Given the description of an element on the screen output the (x, y) to click on. 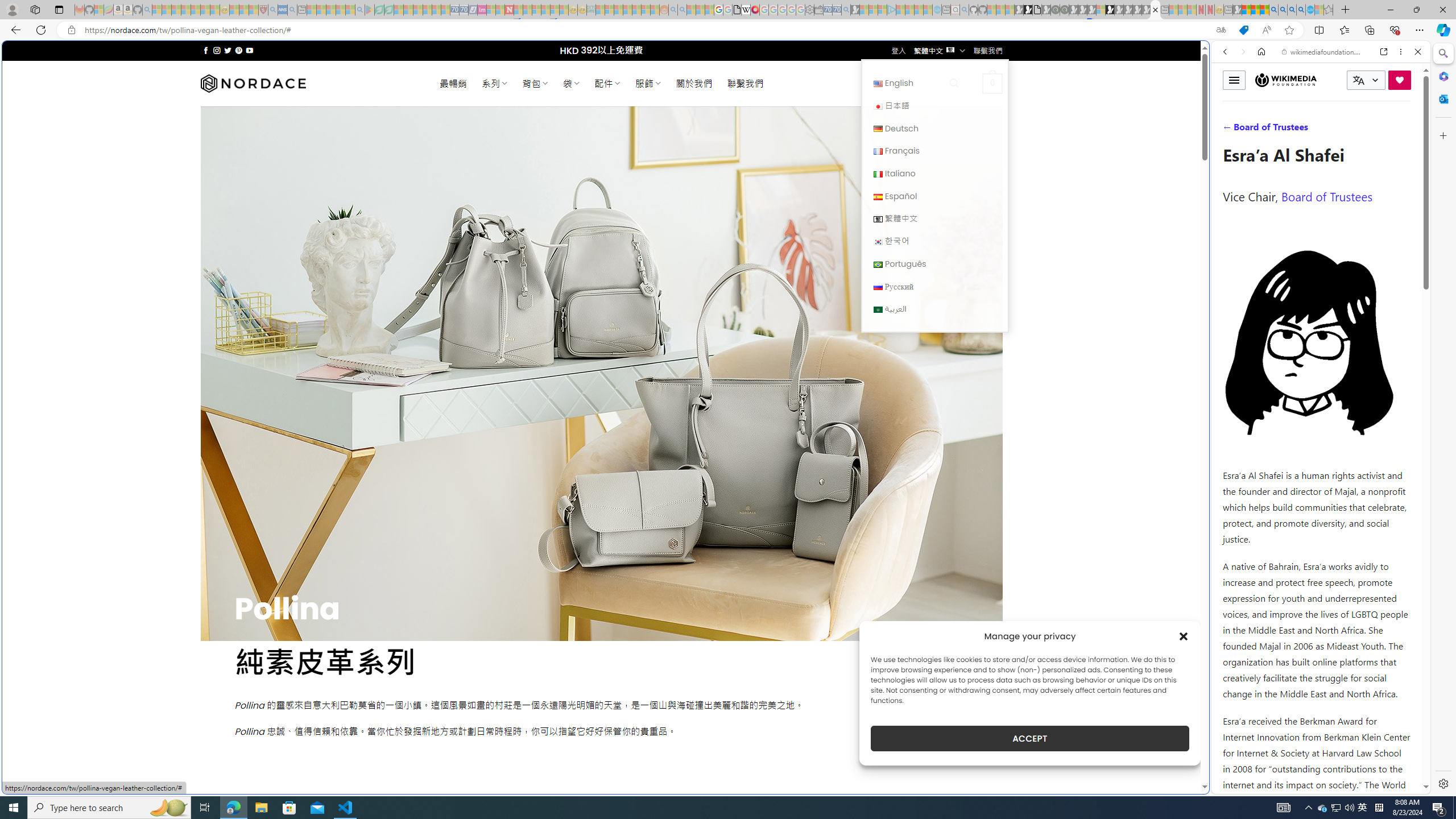
 Italiano (934, 173)
Follow on Pinterest (237, 50)
